Given the description of an element on the screen output the (x, y) to click on. 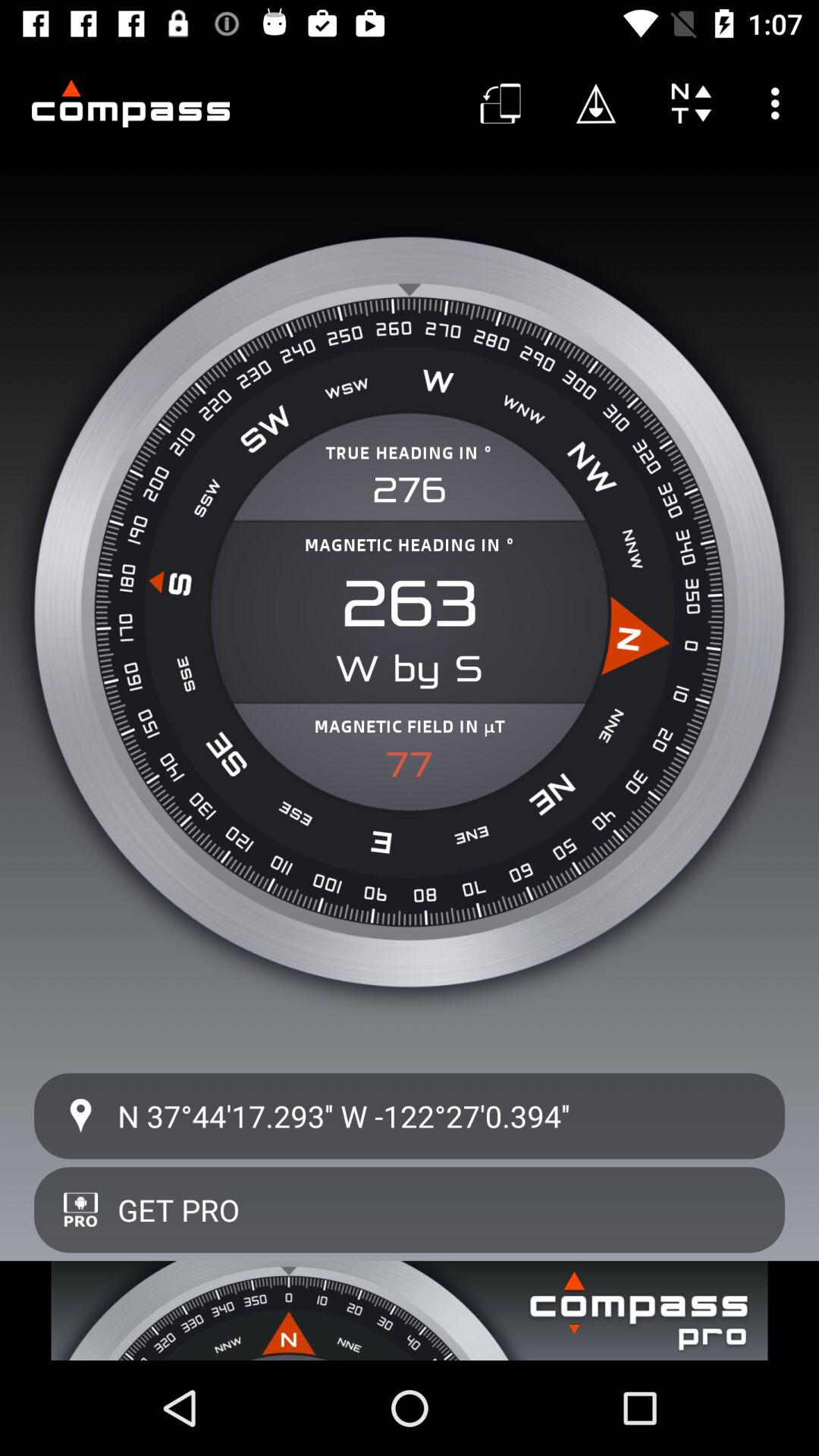
advertisement (409, 1310)
